Given the description of an element on the screen output the (x, y) to click on. 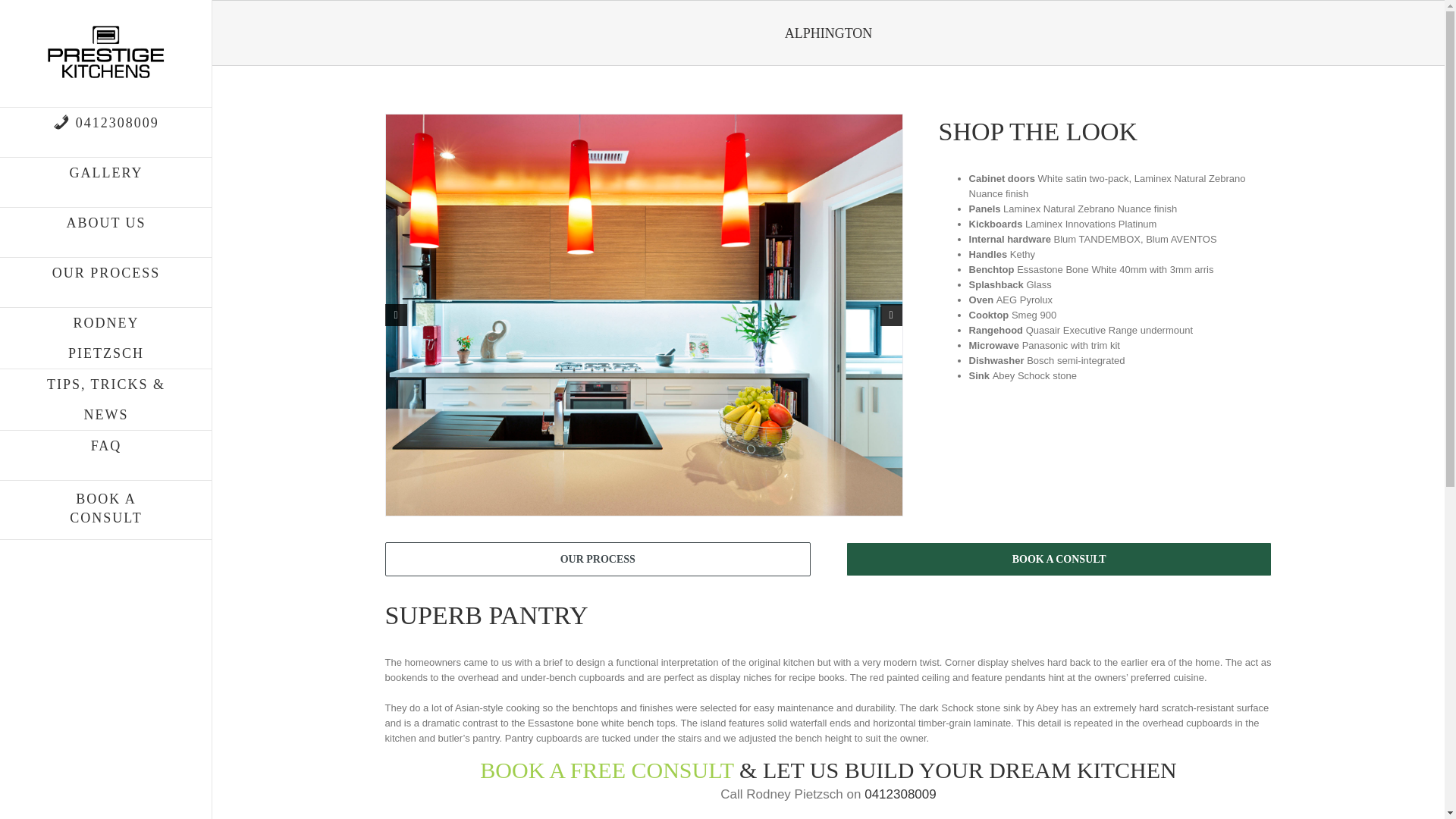
GALLERY (106, 183)
BOOK A CONSULT (1058, 559)
FAQ (106, 455)
BOOK A FREE CONSULT (609, 769)
BOOK A CONSULT (106, 514)
OUR PROCESS (597, 559)
ABOUT US (106, 232)
RODNEY PIETZSCH (106, 338)
0412308009 (900, 794)
0412308009 (106, 132)
OUR PROCESS (106, 282)
